Given the description of an element on the screen output the (x, y) to click on. 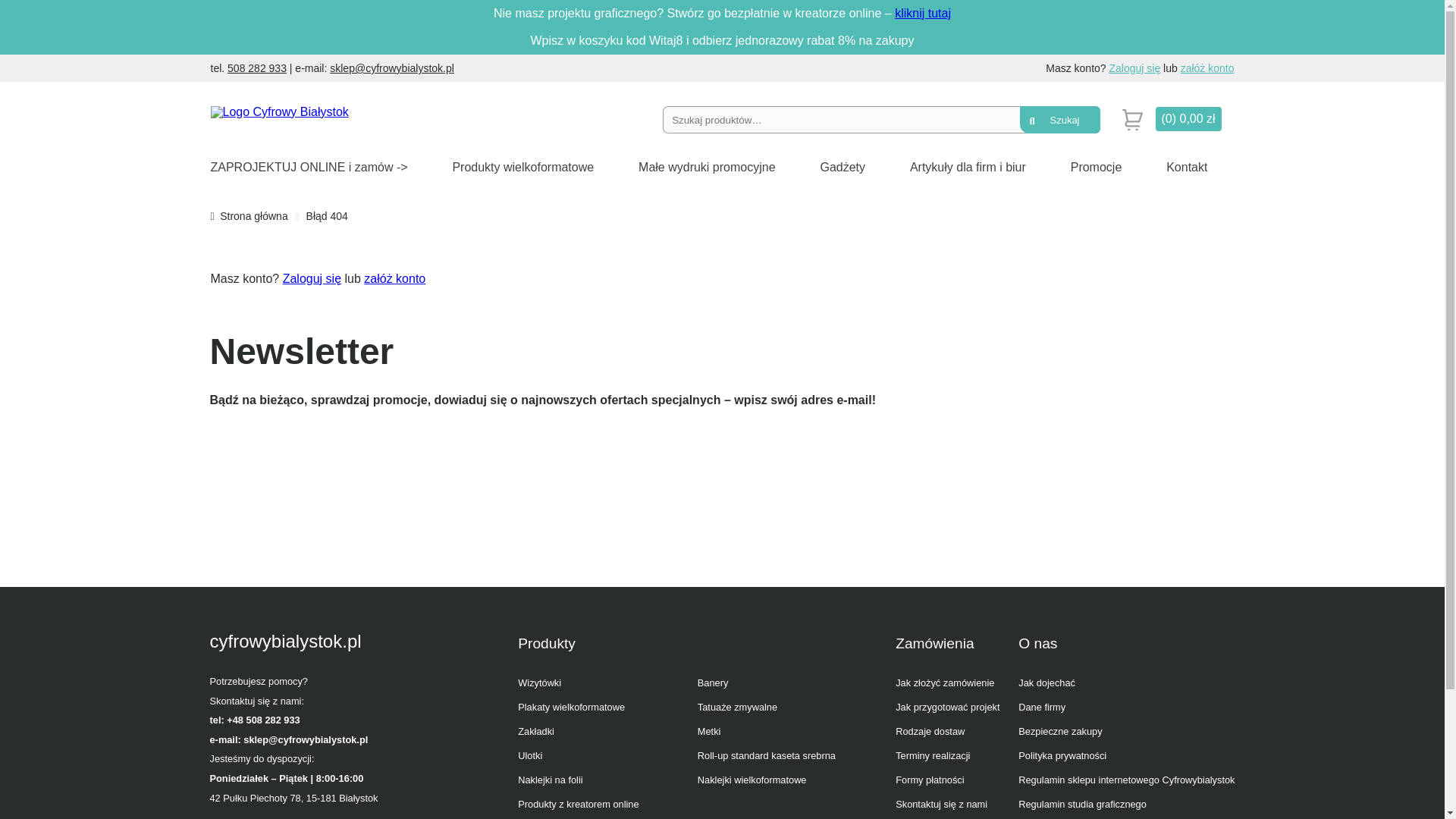
kliknij tutaj (922, 12)
Produkty wielkoformatowe (522, 166)
Promocje (1096, 166)
Kontakt (1186, 166)
Szukaj (1059, 119)
508 282 933 (256, 68)
